Given the description of an element on the screen output the (x, y) to click on. 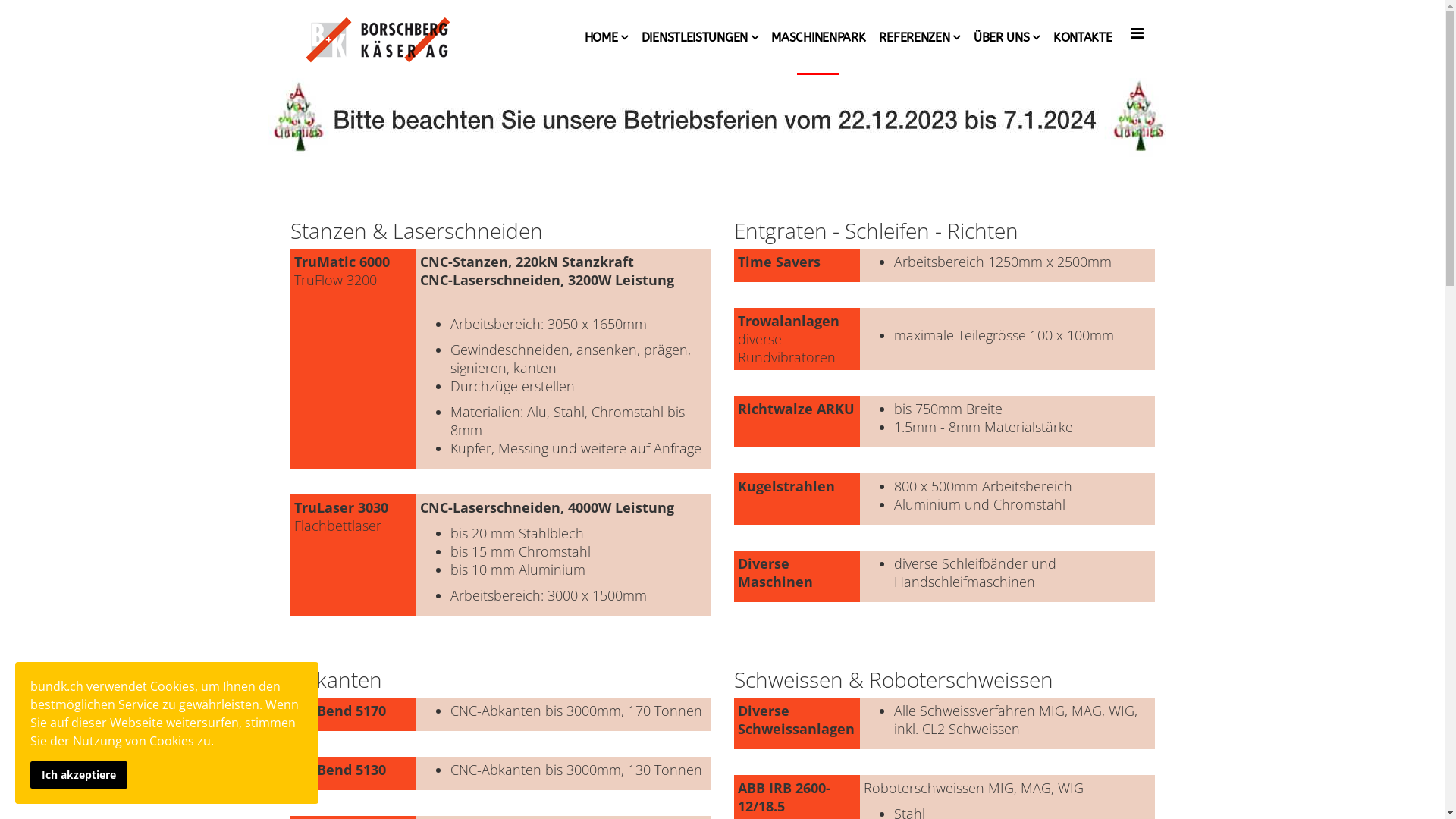
Menu Element type: hover (1135, 32)
KONTAKTE Element type: text (1082, 37)
MASCHINENPARK Element type: text (818, 37)
Ich akzeptiere Element type: text (78, 774)
HOME Element type: text (605, 37)
REFERENZEN Element type: text (919, 37)
DIENSTLEISTUNGEN Element type: text (699, 37)
